Given the description of an element on the screen output the (x, y) to click on. 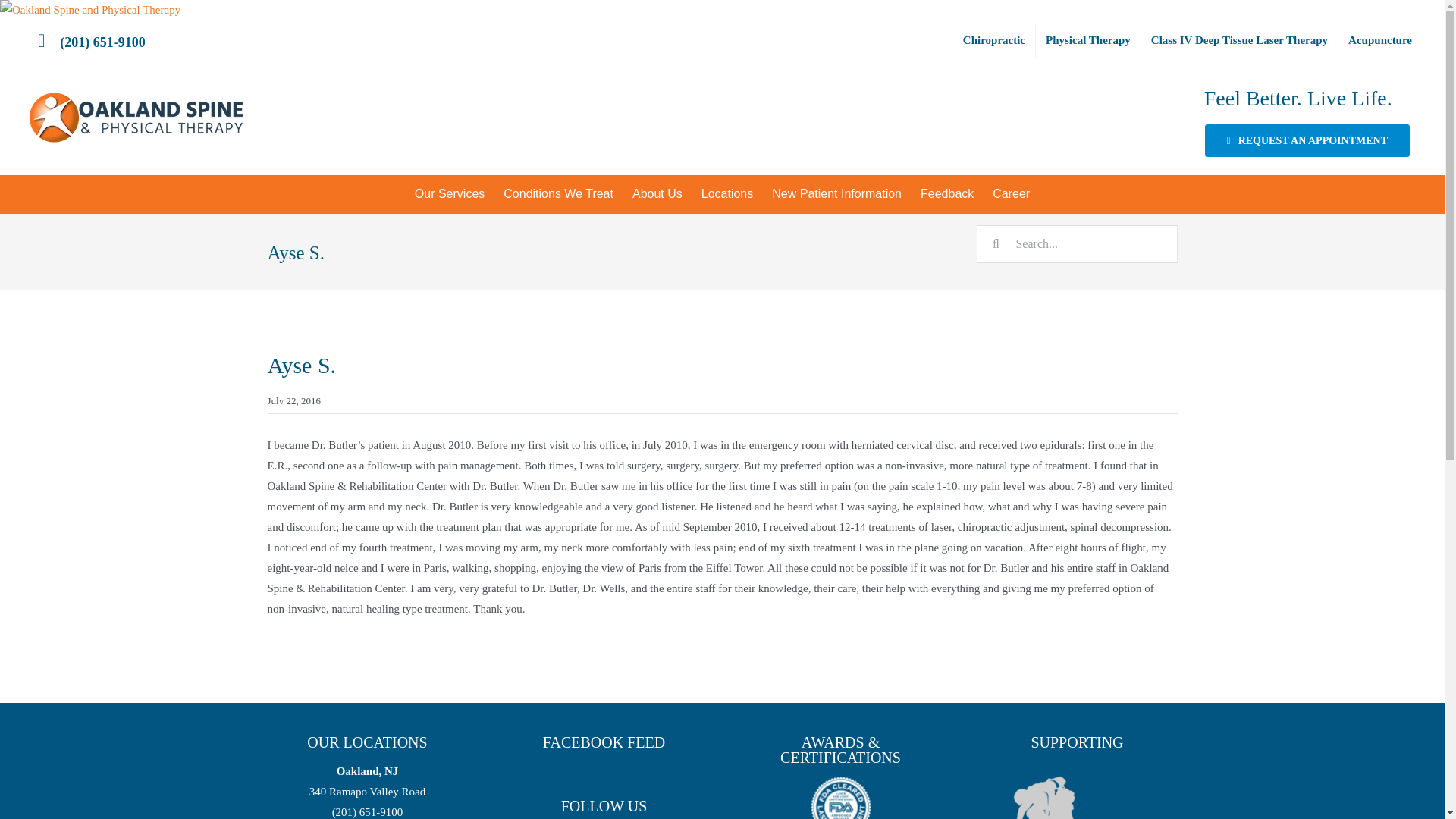
New Patient Information (836, 193)
Our Services (448, 193)
About Us (657, 193)
Oakland Spine and Physical Therapy  (90, 10)
Locations (726, 193)
Chiropractic (994, 39)
REQUEST AN APPOINTMENT (1307, 140)
Conditions We Treat (559, 193)
Feedback (947, 193)
Physical Therapy (1087, 39)
